Given the description of an element on the screen output the (x, y) to click on. 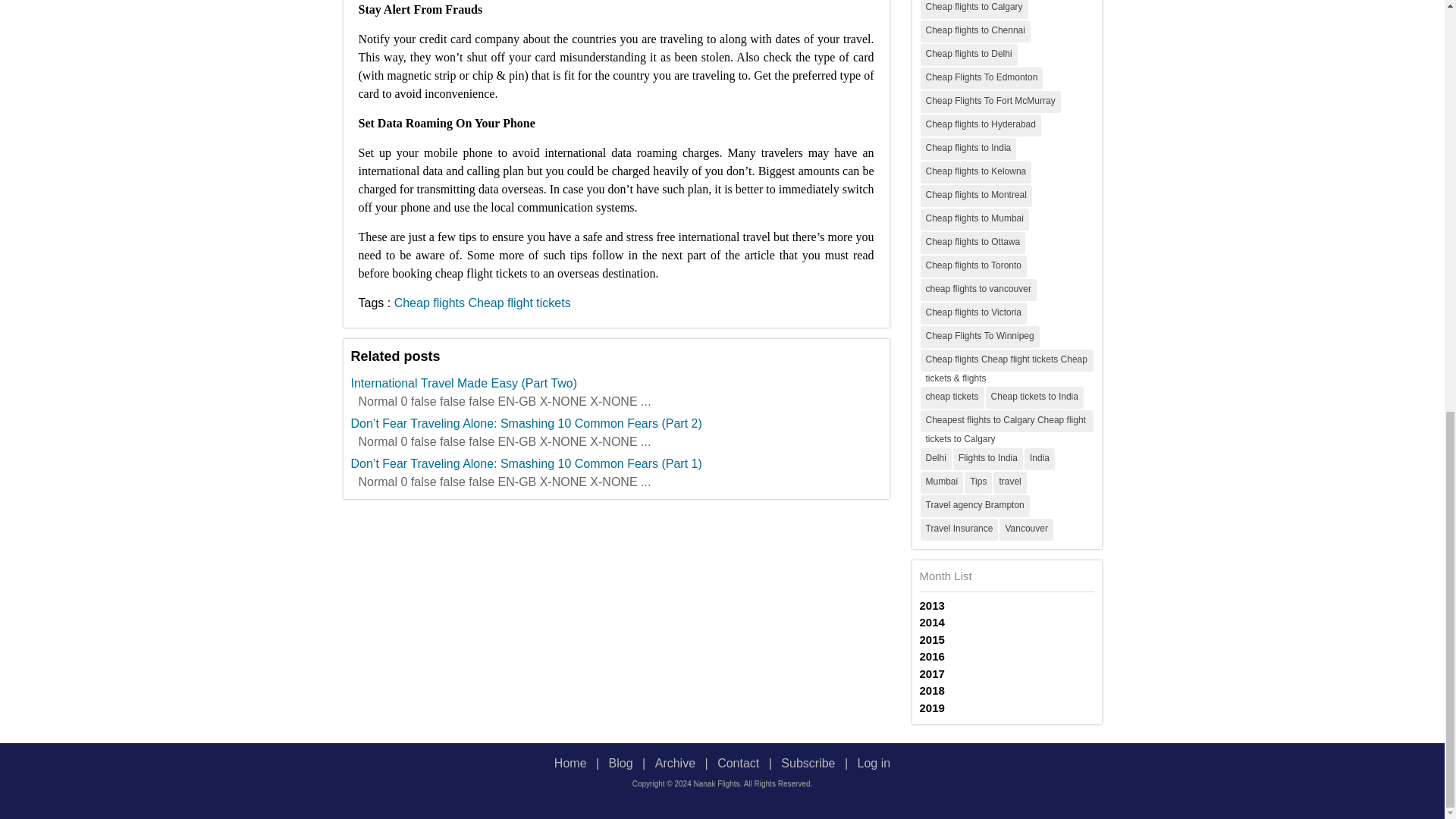
Cheap flights to Chennai (975, 30)
Cheap flights to Calgary (973, 9)
Cheap flights to Delhi (968, 55)
Cheap flights Cheap flight tickets (482, 301)
Cheap Flights To Edmonton (981, 77)
